Given the description of an element on the screen output the (x, y) to click on. 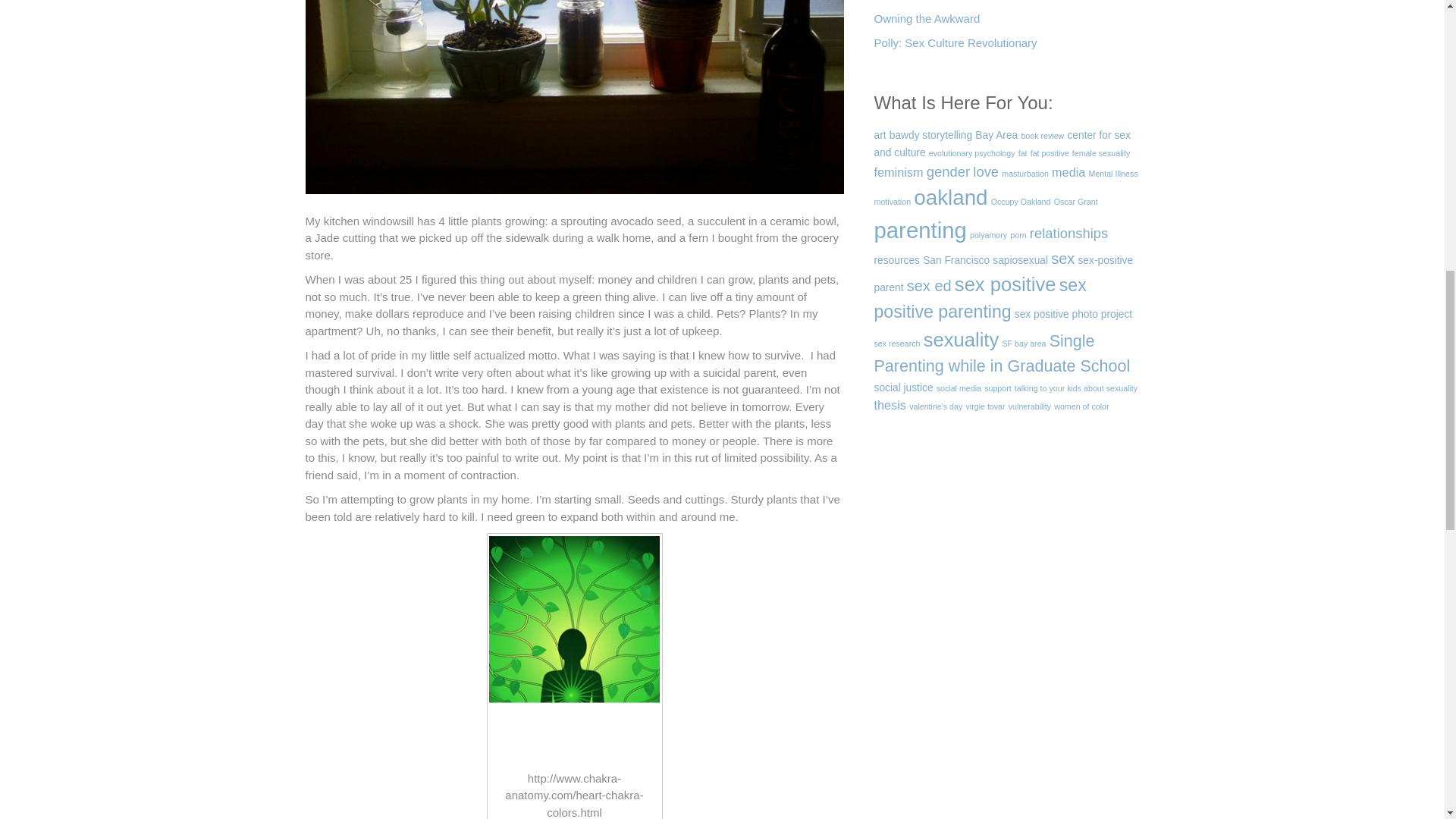
female sexuality (1100, 153)
4 topics (1001, 143)
3 topics (971, 153)
center for sex and culture (1001, 143)
4 topics (879, 134)
bawdy storytelling (930, 134)
Bay Area (996, 134)
fat (1022, 153)
Owning the Awkward (926, 23)
3 topics (1100, 153)
fat positive (1049, 153)
3 topics (1022, 153)
Polly: Sex Culture Revolutionary (954, 47)
3 topics (1049, 153)
5 topics (898, 172)
